Given the description of an element on the screen output the (x, y) to click on. 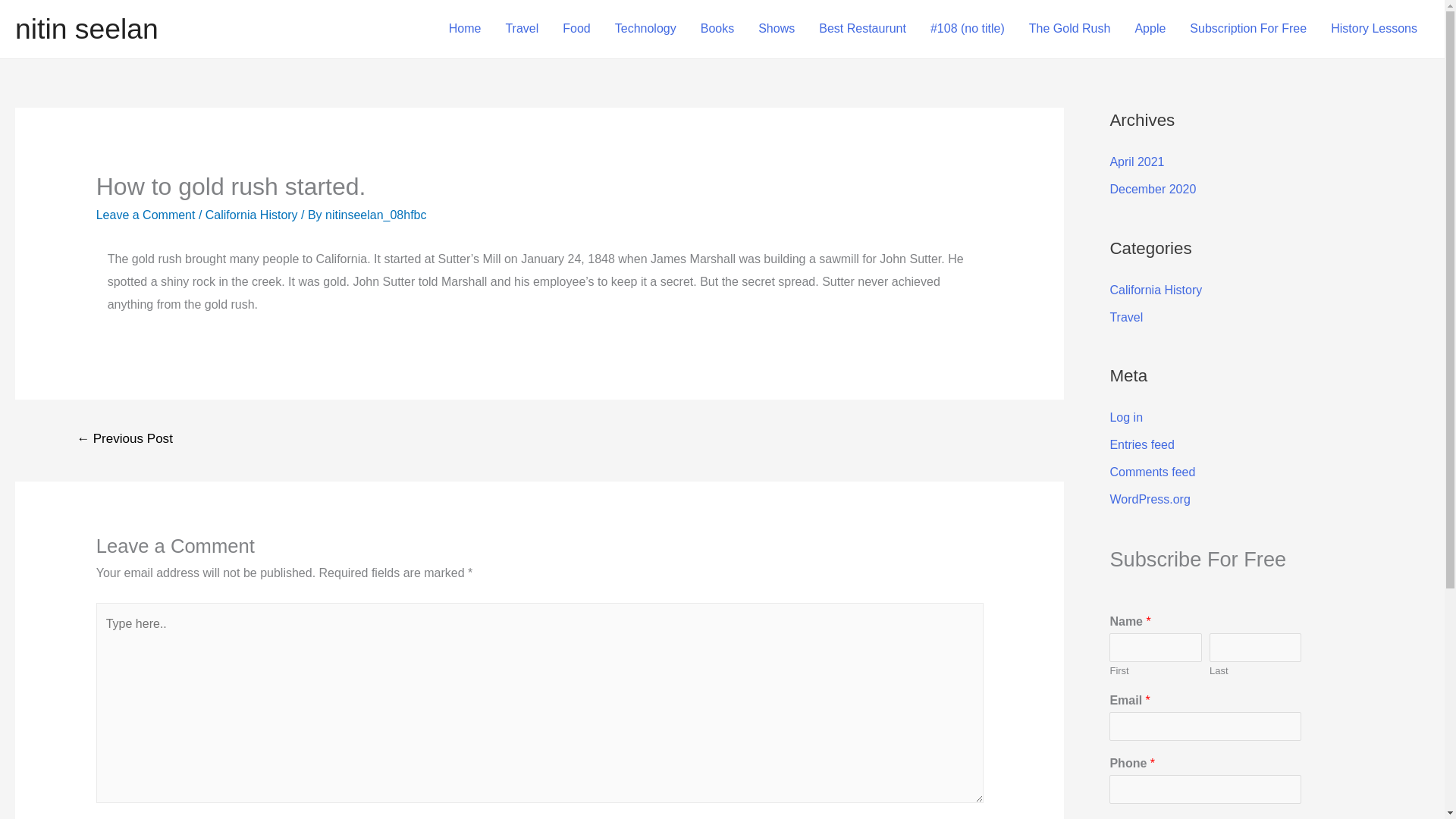
History Lessons (1374, 28)
WordPress.org (1149, 499)
April 2021 (1136, 161)
Home (464, 28)
Subscription For Free (1248, 28)
California History (251, 214)
Comments feed (1152, 472)
The Gold Rush (1069, 28)
Travel (521, 28)
Apple (1149, 28)
